Given the description of an element on the screen output the (x, y) to click on. 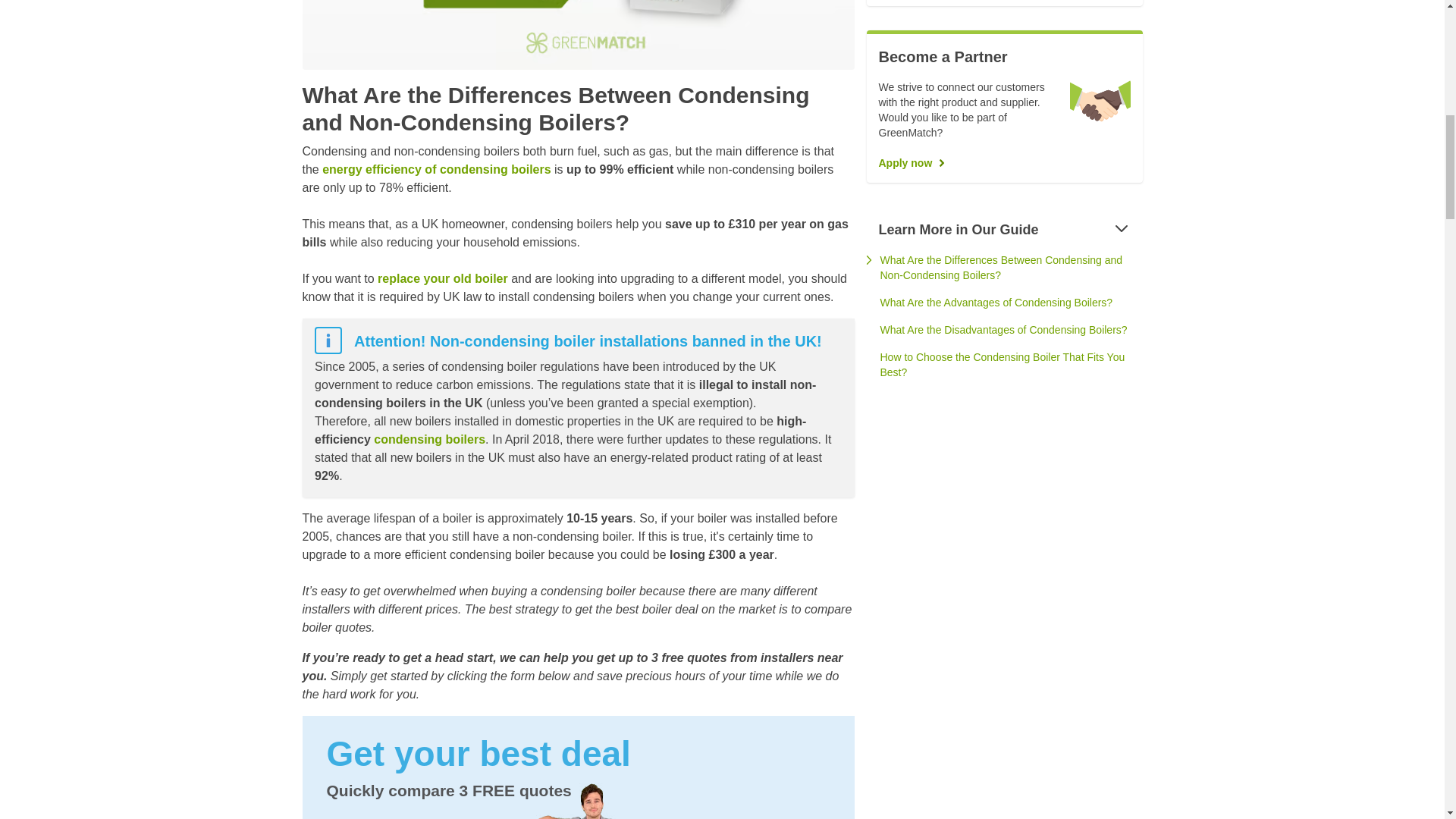
Boiler Replacement (442, 278)
Condensing (429, 439)
How Efficient is a Condensing Boiler? (435, 169)
